Given the description of an element on the screen output the (x, y) to click on. 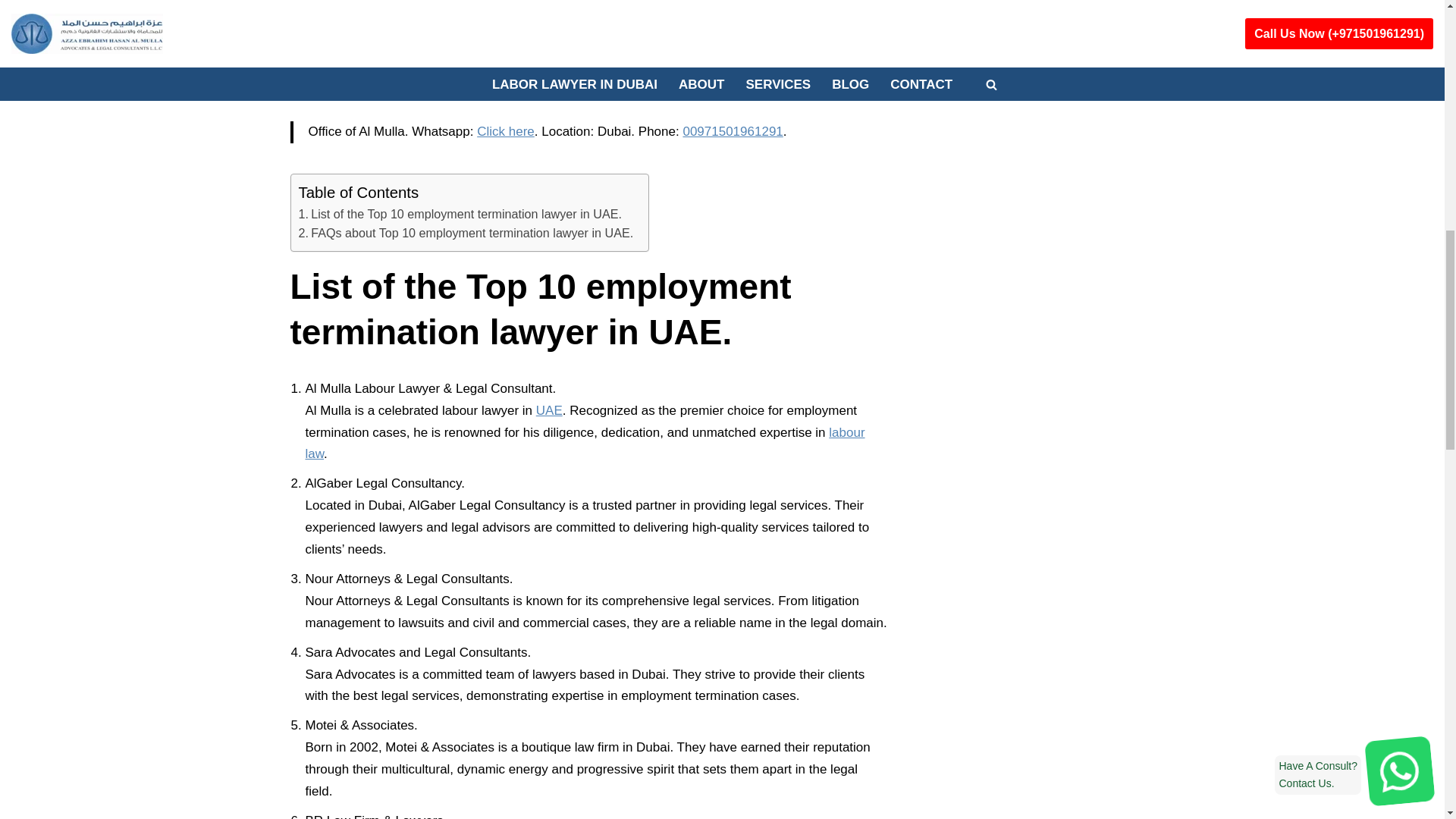
FAQs about Top 10 employment termination lawyer in UAE. (465, 233)
Click here (505, 131)
UAE (548, 410)
List of the Top 10 employment termination lawyer in UAE. (459, 214)
FAQs about Top 10 employment termination lawyer in UAE. (465, 233)
00971501961291 (732, 131)
labour law (584, 443)
List of the Top 10 employment termination lawyer in UAE. (459, 214)
